Given the description of an element on the screen output the (x, y) to click on. 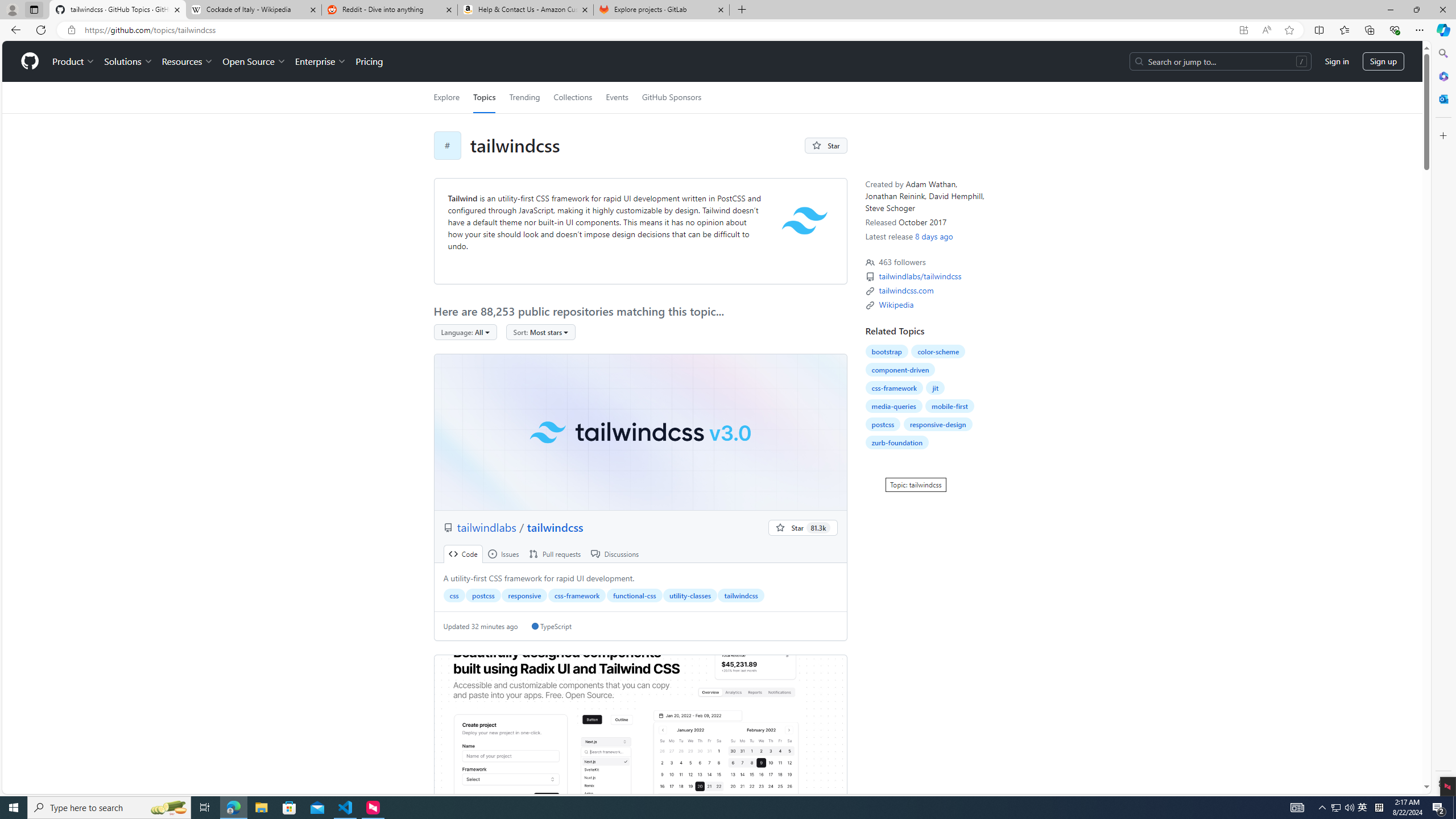
functional-css (633, 594)
Product (74, 60)
Language: All (464, 331)
GitHub Sponsors (671, 97)
App available. Install GitHub (1243, 29)
Resources (187, 60)
media-queries (893, 405)
 Discussions (615, 553)
 Issues (502, 553)
